Given the description of an element on the screen output the (x, y) to click on. 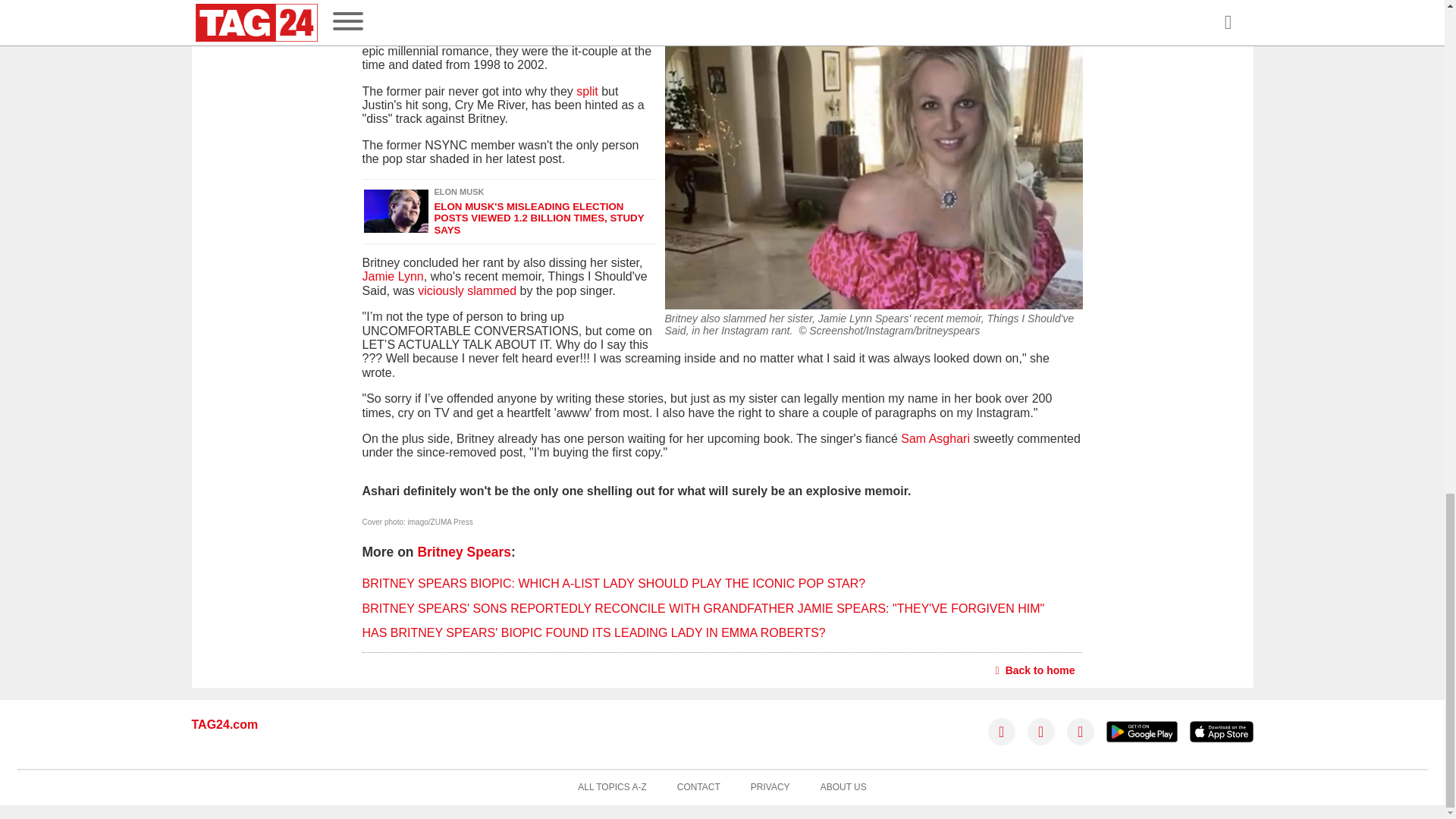
viciously slammed (466, 290)
PRIVACY (770, 787)
CONTACT (698, 787)
split (586, 91)
ALL TOPICS A-Z (612, 787)
Back to home (1035, 670)
